Given the description of an element on the screen output the (x, y) to click on. 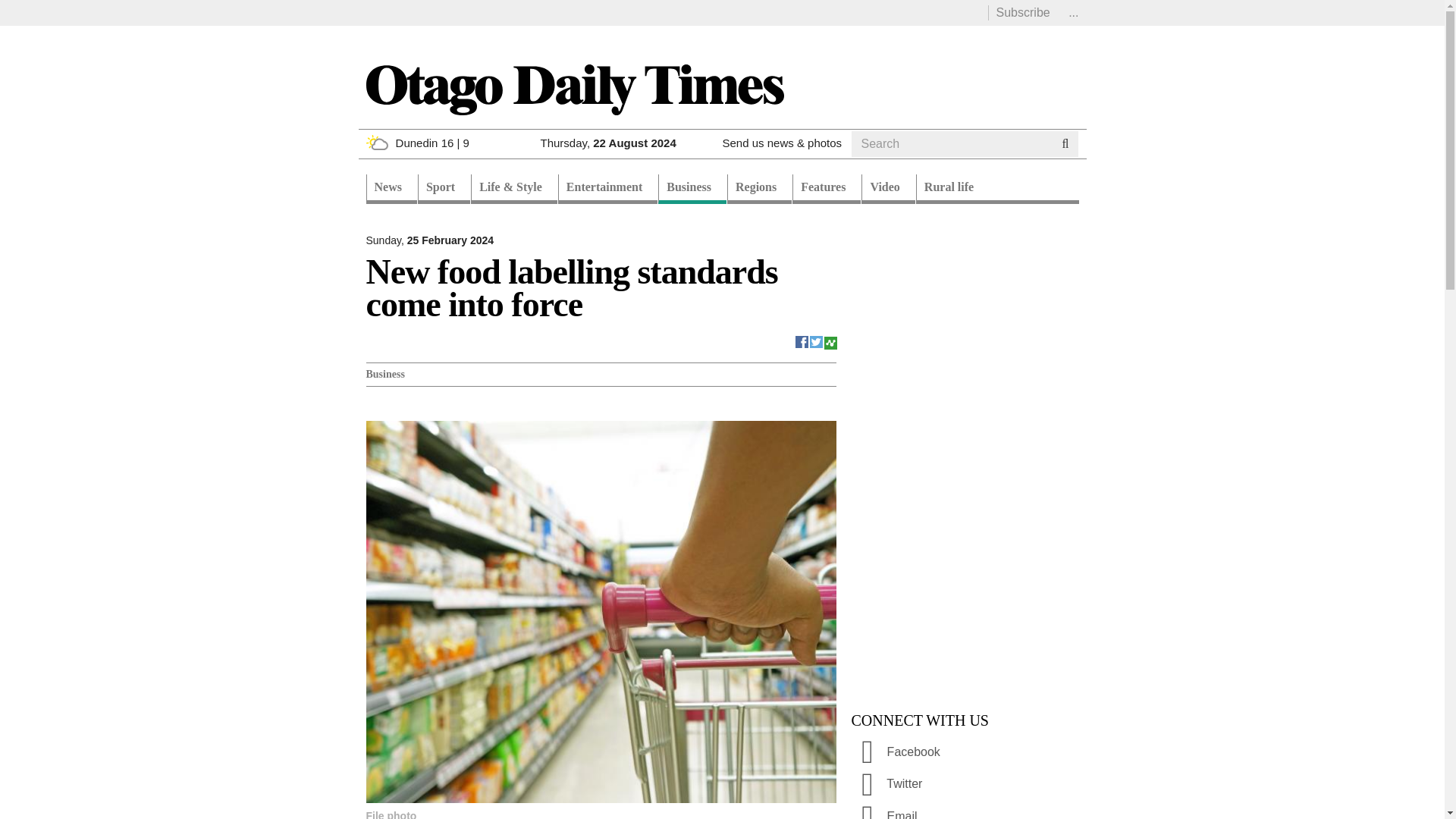
Sport (443, 188)
Partly cloudy (376, 142)
Home (574, 88)
Facebook (801, 340)
ShareThis (829, 340)
Subscribe (1022, 11)
Twitter (816, 340)
News (390, 188)
Enter the terms you wish to search for. (951, 144)
